Given the description of an element on the screen output the (x, y) to click on. 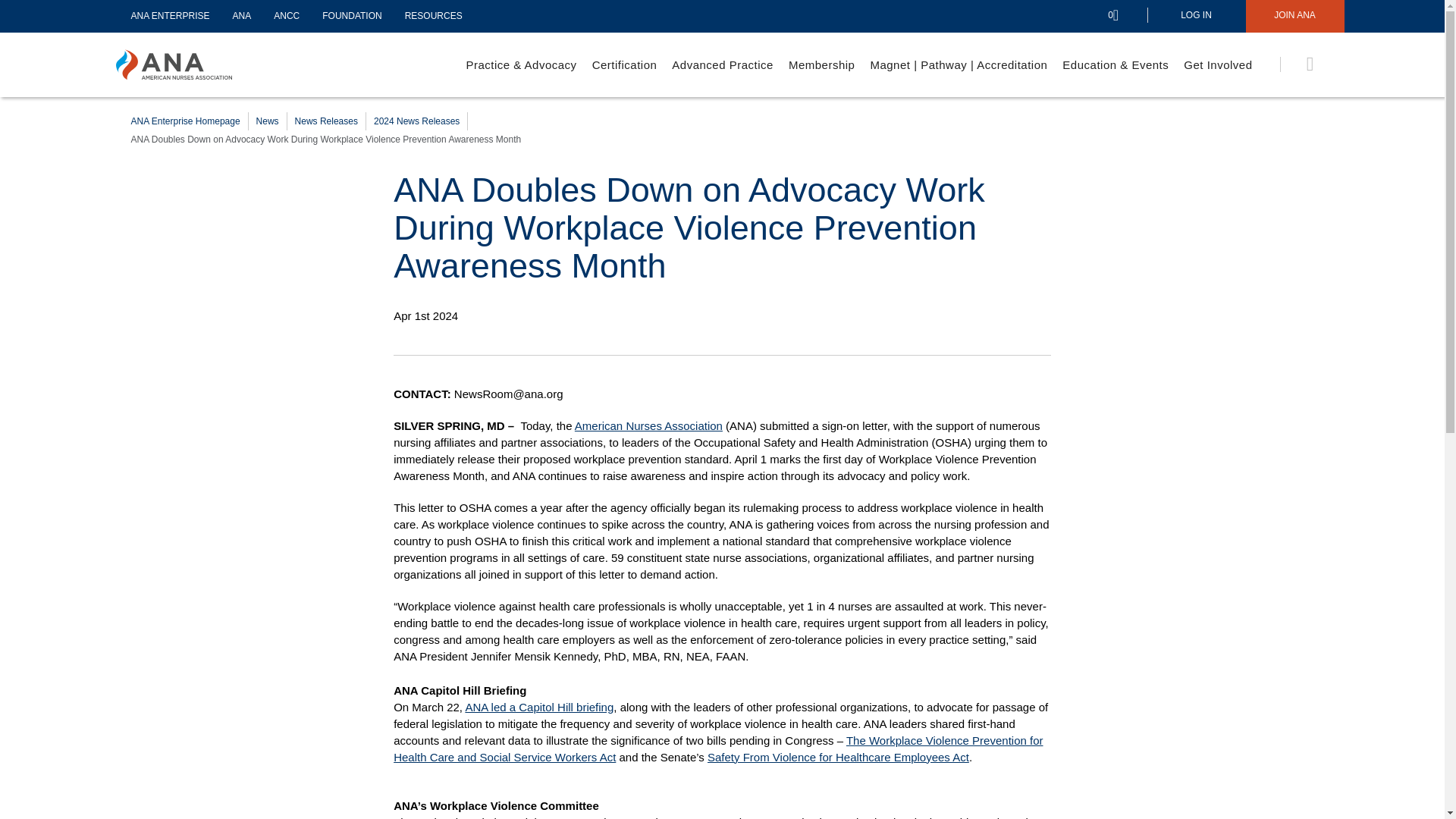
News (267, 121)
RESOURCES (433, 15)
Foundation (351, 15)
0 (1126, 15)
2024 News Releases (417, 121)
ANA Enterprise (170, 15)
FOUNDATION (351, 15)
Join ANA (1293, 16)
LOG IN (1195, 16)
